Given the description of an element on the screen output the (x, y) to click on. 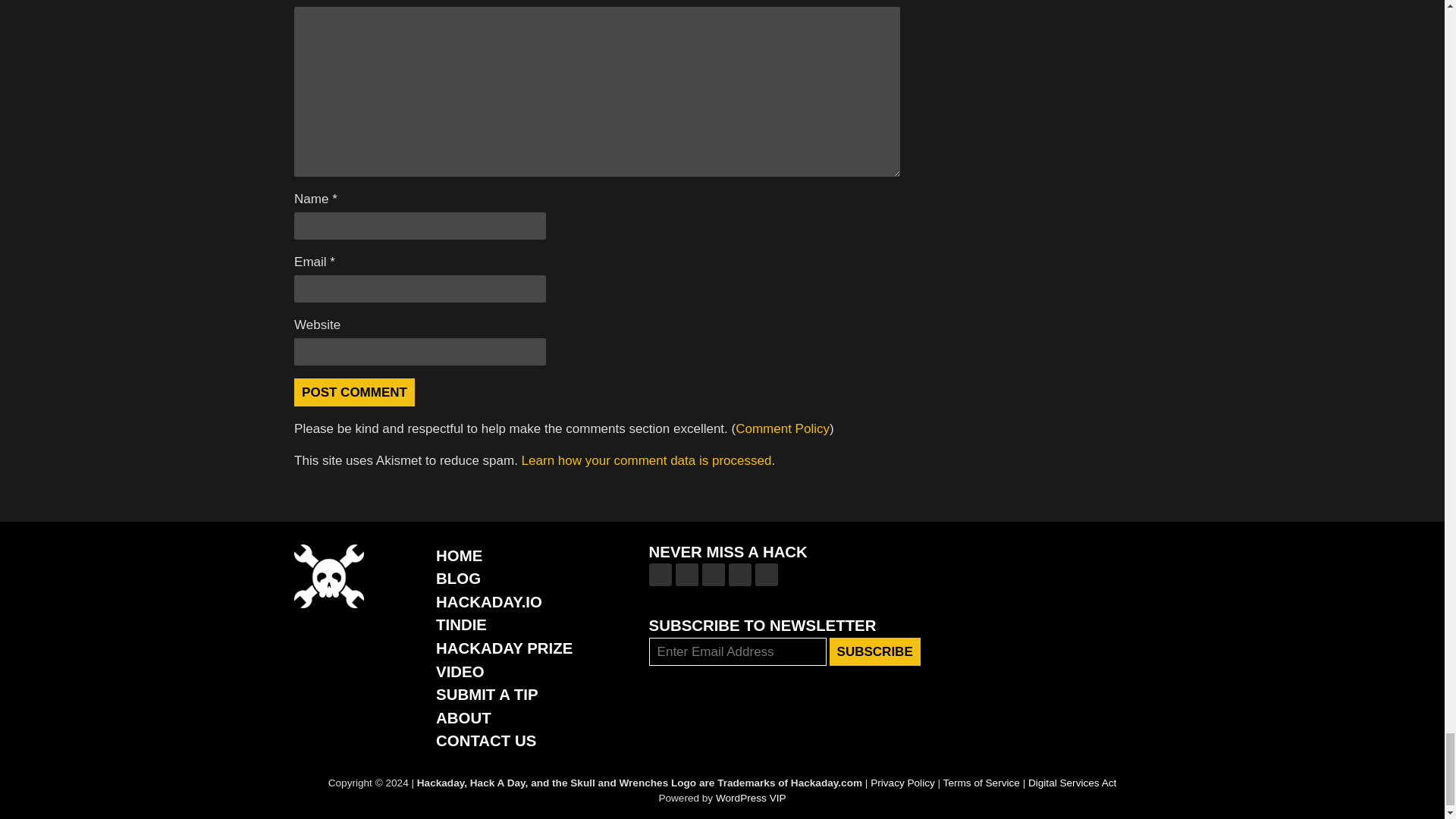
Subscribe (874, 652)
Post Comment (354, 392)
Build Something that Matters (503, 647)
